Given the description of an element on the screen output the (x, y) to click on. 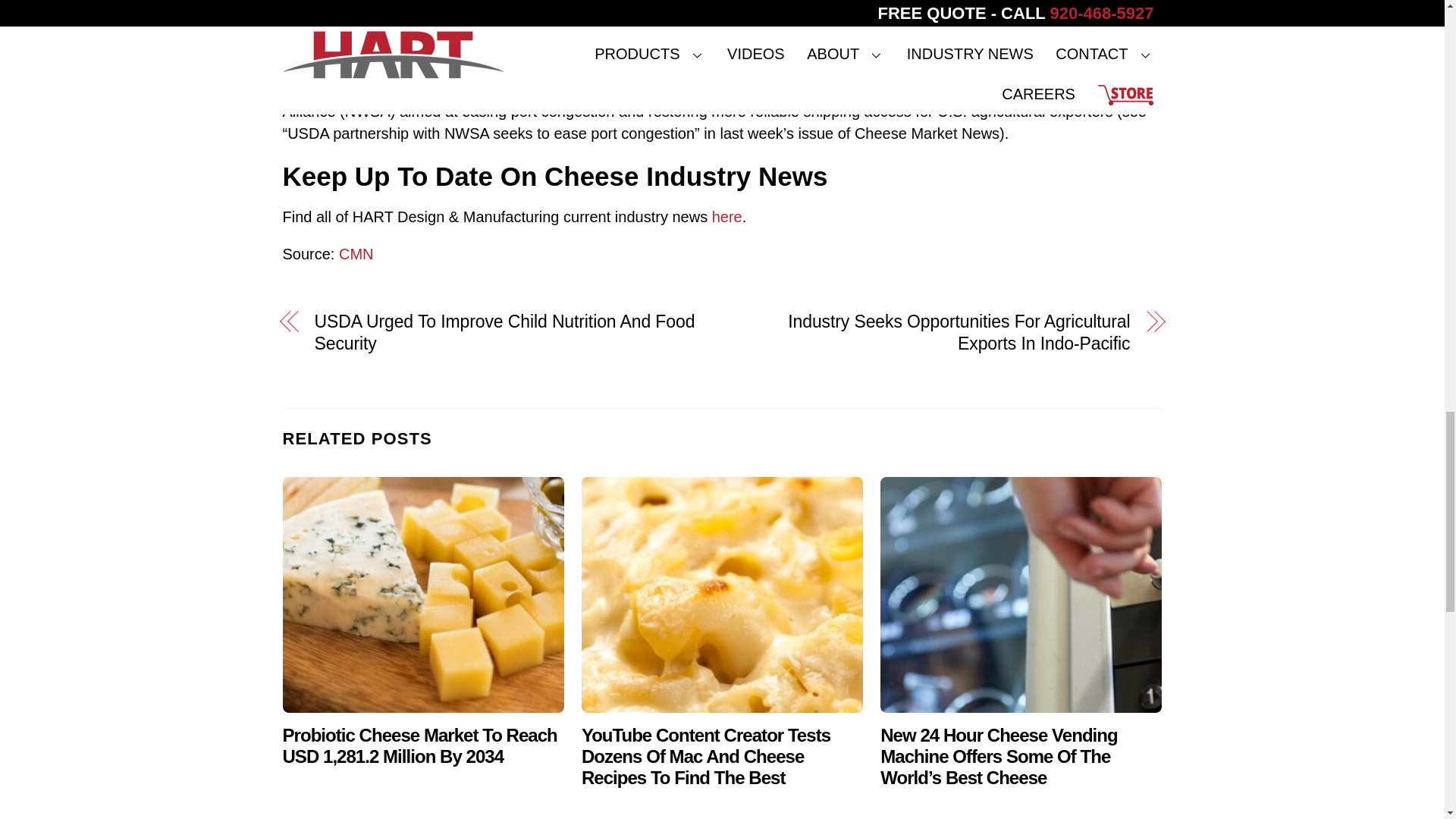
Probiotic Cheese Market To Reach USD 1,281.2 Million By 2034 (422, 594)
